Given the description of an element on the screen output the (x, y) to click on. 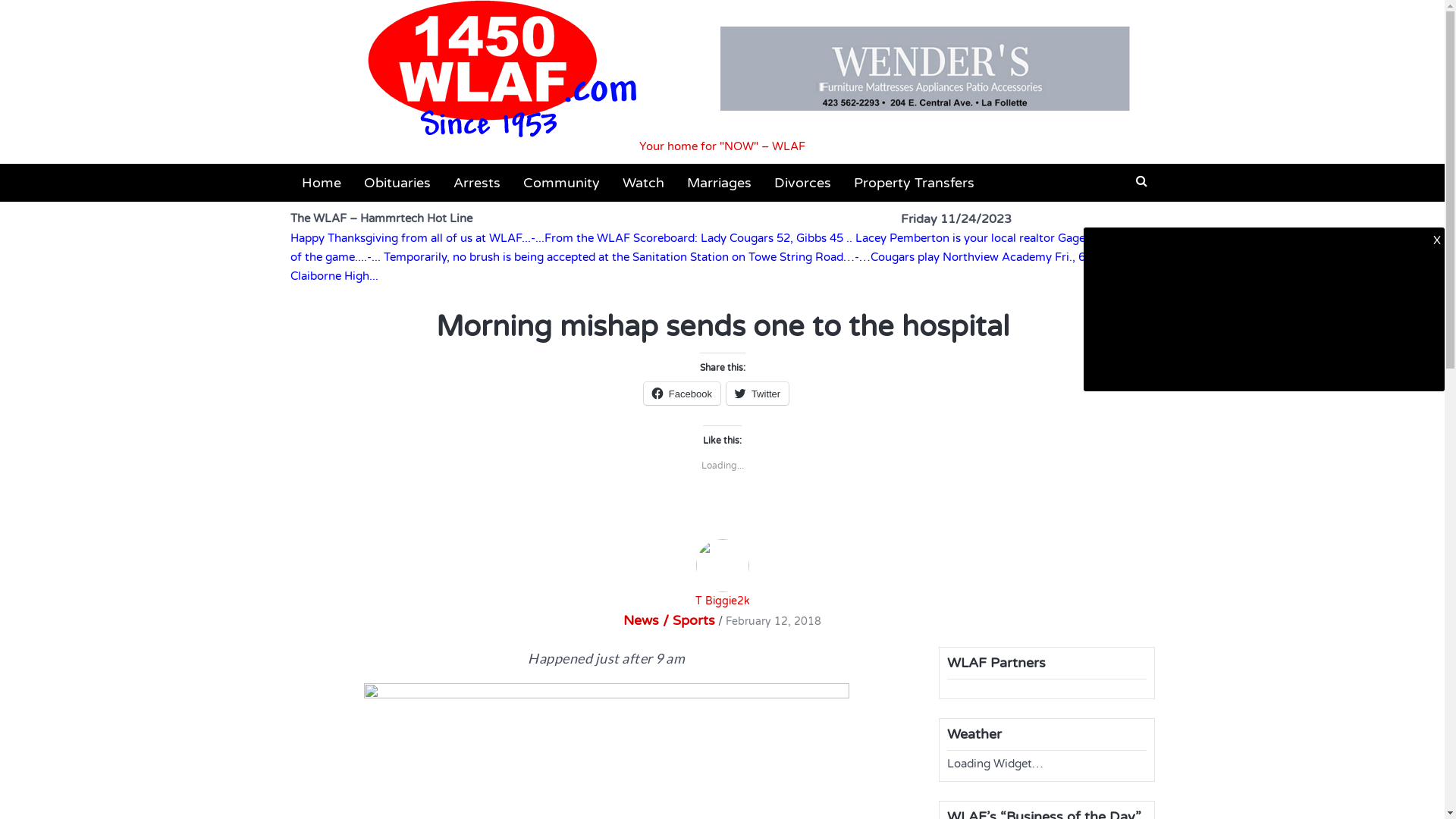
Like or Reblog Element type: hover (721, 518)
Arrests Element type: text (476, 182)
Watch Element type: text (643, 182)
Search Element type: text (774, 157)
X Element type: text (1436, 240)
Obituaries Element type: text (396, 182)
Property Transfers Element type: text (913, 182)
T Biggie2k Element type: text (721, 573)
Divorces Element type: text (802, 182)
Community Element type: text (560, 182)
Home Element type: text (320, 182)
News / Sports Element type: text (669, 620)
Marriages Element type: text (718, 182)
Facebook Element type: text (681, 393)
Twitter Element type: text (757, 393)
